Given the description of an element on the screen output the (x, y) to click on. 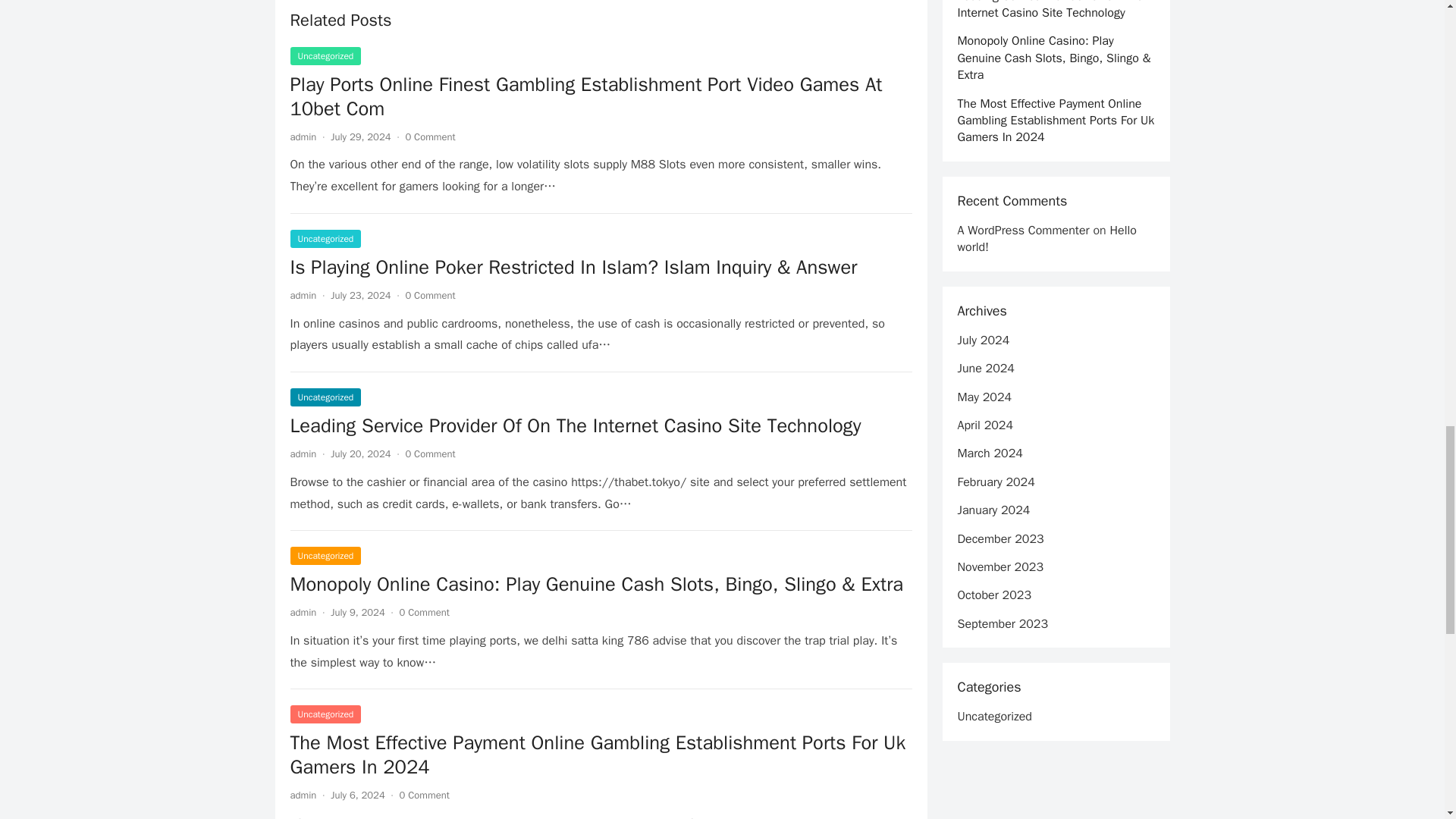
admin (302, 136)
admin (302, 453)
0 Comment (423, 794)
0 Comment (429, 295)
admin (302, 794)
Uncategorized (325, 397)
0 Comment (423, 612)
0 Comment (429, 453)
Uncategorized (325, 556)
Posts by admin (302, 136)
Posts by admin (302, 295)
admin (302, 612)
